Given the description of an element on the screen output the (x, y) to click on. 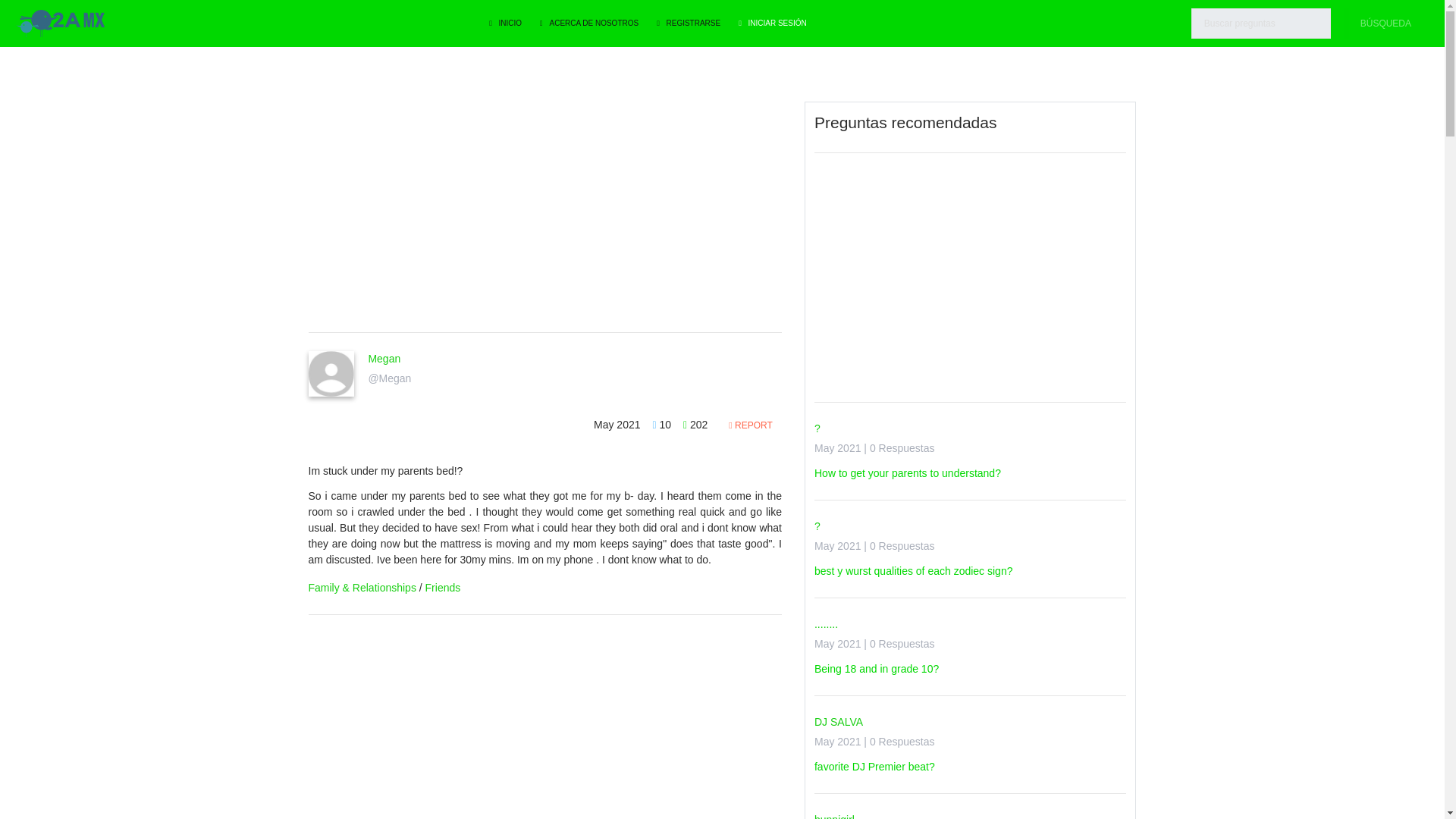
INICIO (504, 23)
Advertisement (543, 726)
REGISTRARSE (688, 23)
ACERCA DE NOSOTROS (589, 23)
Friends (443, 587)
Advertisement (543, 207)
REPORT (750, 425)
